Given the description of an element on the screen output the (x, y) to click on. 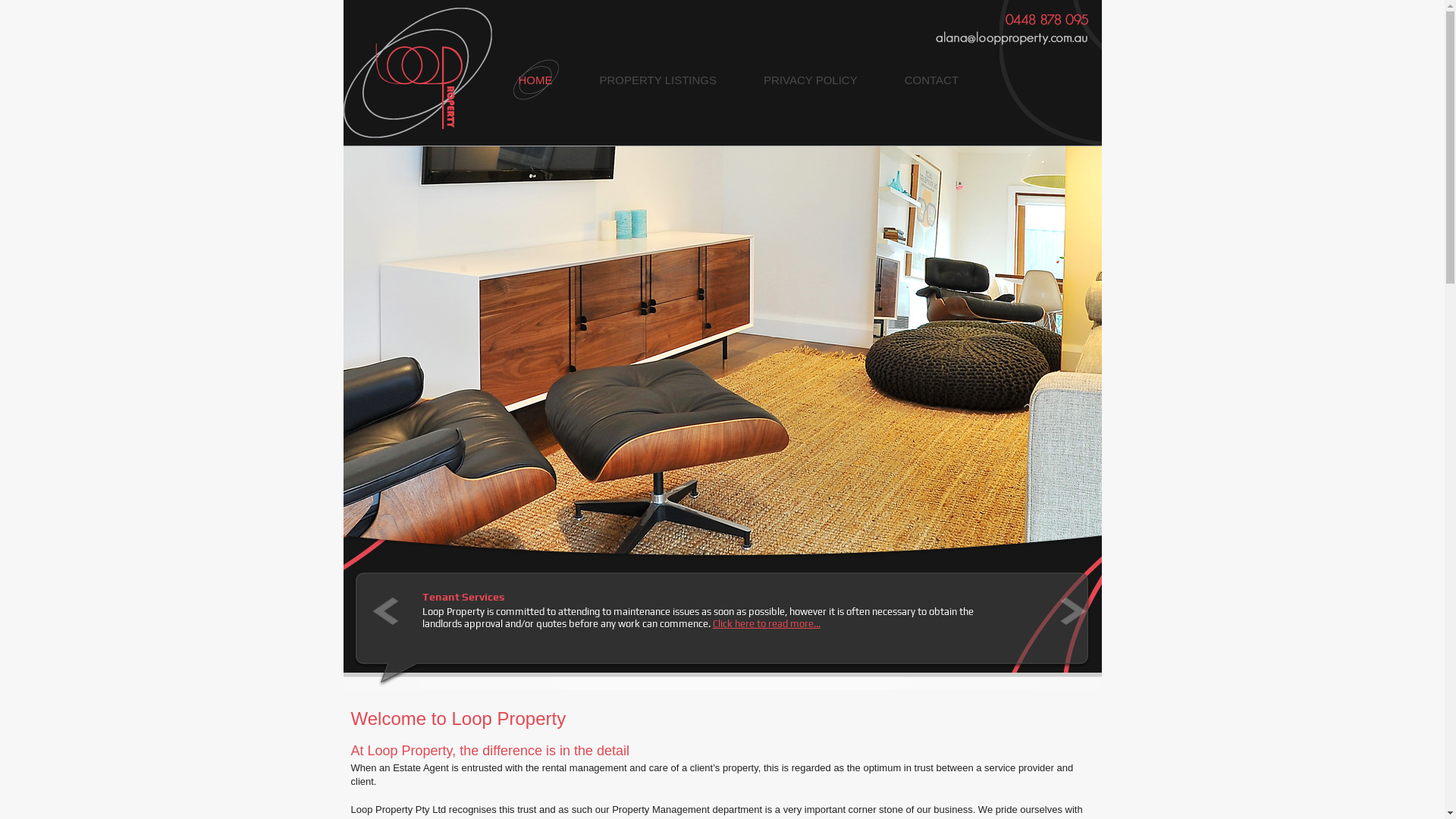
PROPERTY LISTINGS Element type: text (657, 79)
HOME Element type: text (535, 79)
Click here to read more... Element type: text (707, 617)
CONTACT Element type: text (931, 79)
PRIVACY POLICY Element type: text (810, 79)
